Given the description of an element on the screen output the (x, y) to click on. 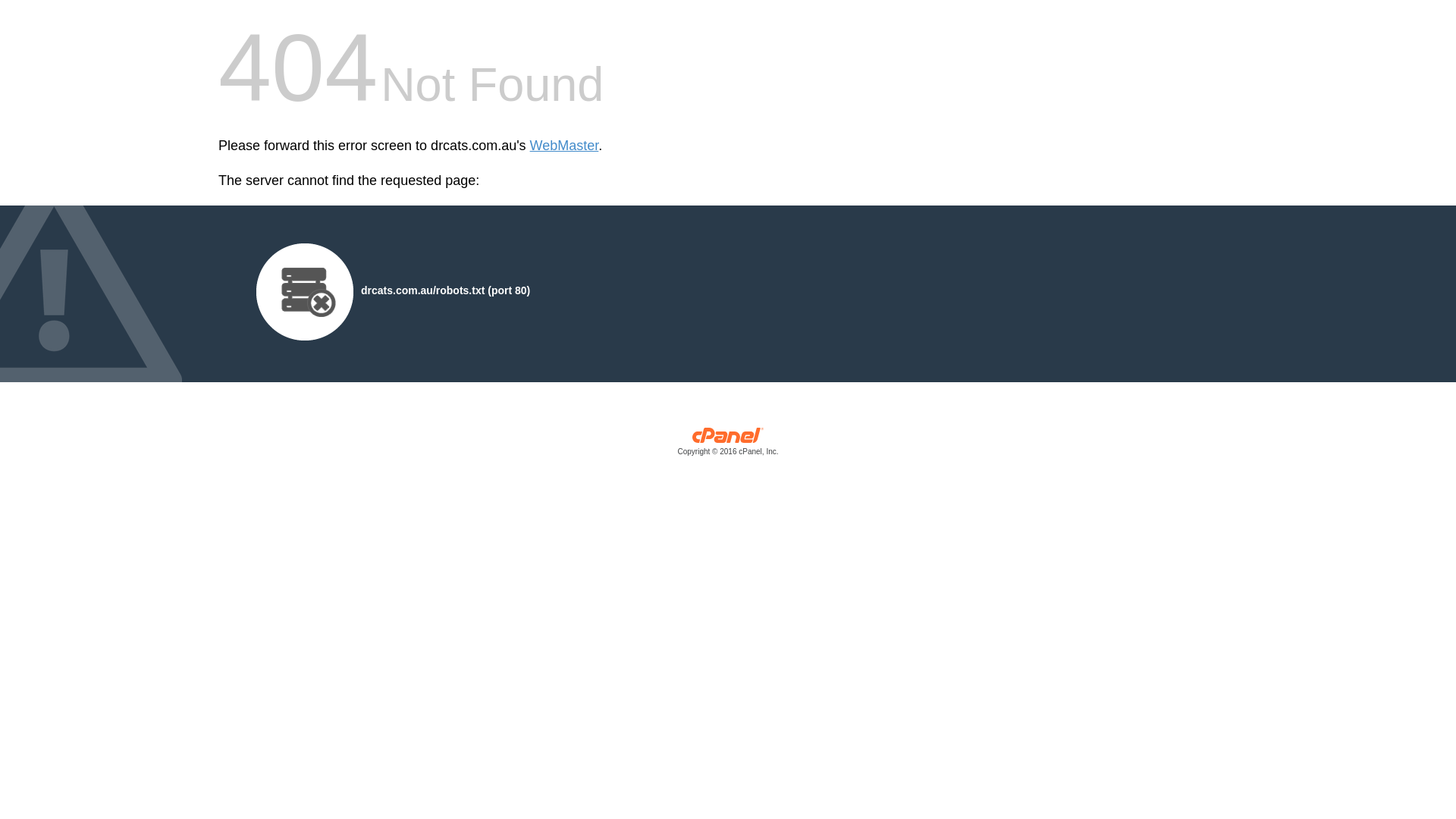
WebMaster Element type: text (564, 145)
